Given the description of an element on the screen output the (x, y) to click on. 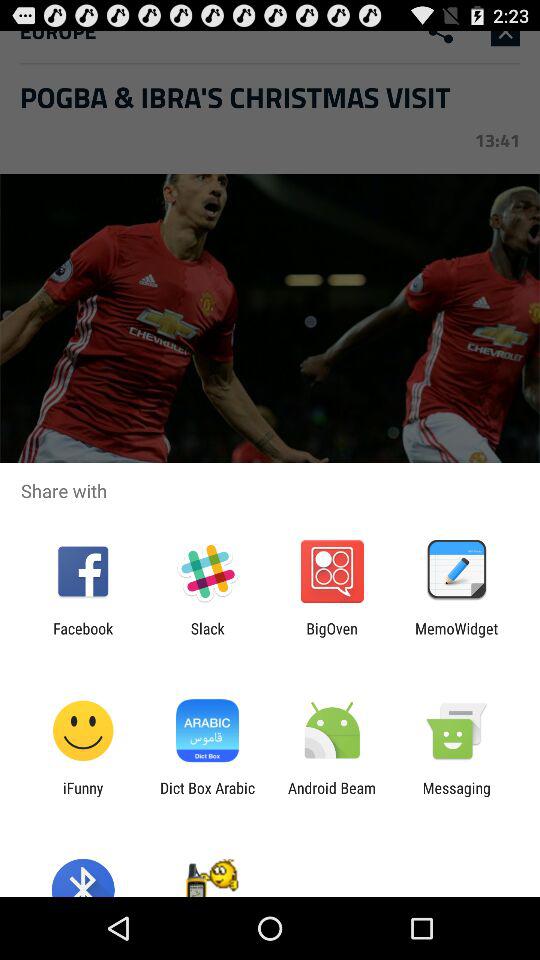
launch the item next to the facebook icon (207, 637)
